Given the description of an element on the screen output the (x, y) to click on. 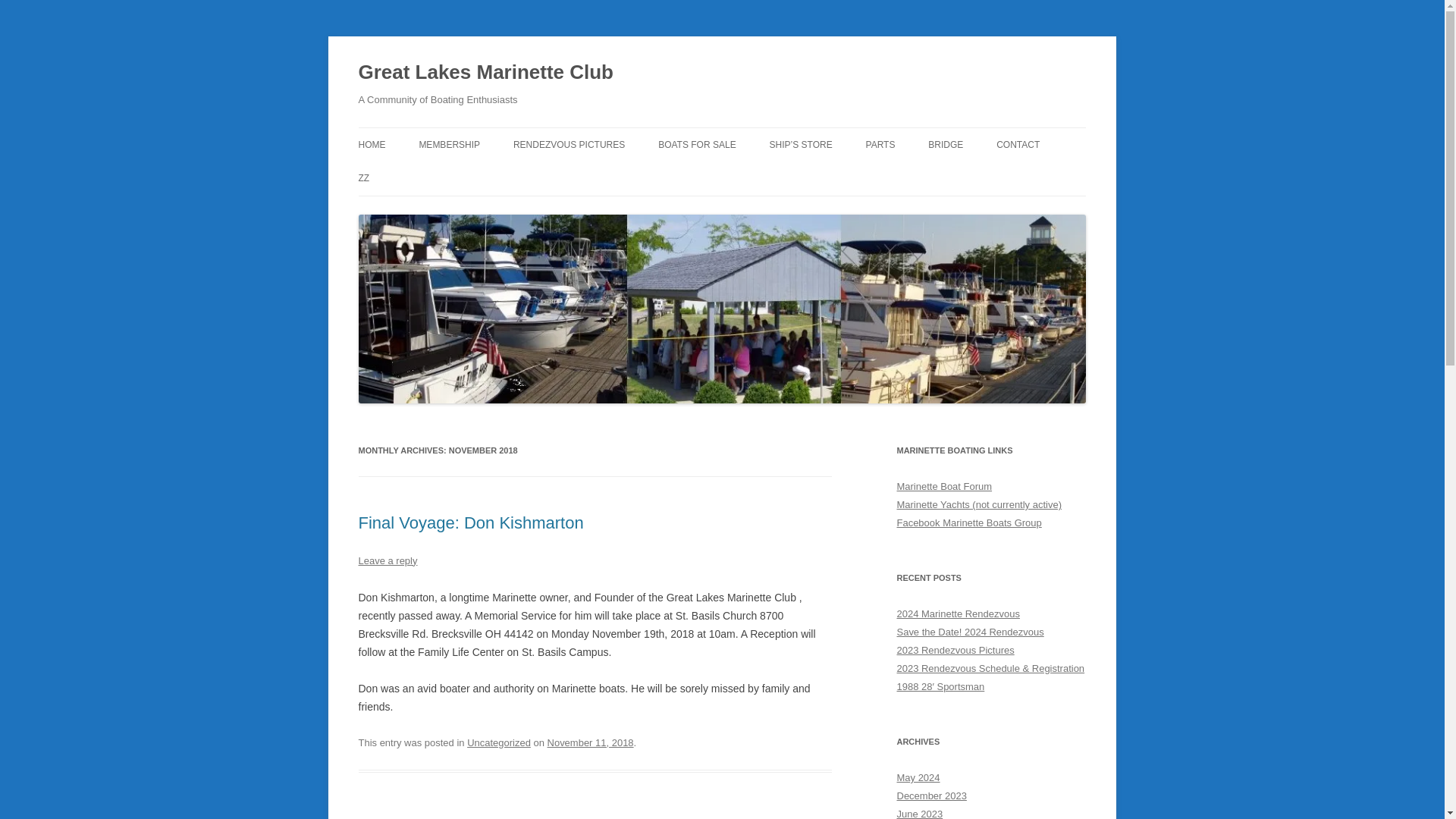
June 2023 (919, 813)
Great Lakes Marinette Club (485, 72)
May 2024 (917, 777)
Facebook Marinette Boats Group (968, 522)
2023 Rendezvous Pictures (954, 650)
BOATS FOR SALE (696, 144)
2024 Marinette Rendezvous (957, 613)
CONTACT (1017, 144)
Final Voyage: Don Kishmarton (470, 522)
Marinette Boat Forum (943, 486)
